Given the description of an element on the screen output the (x, y) to click on. 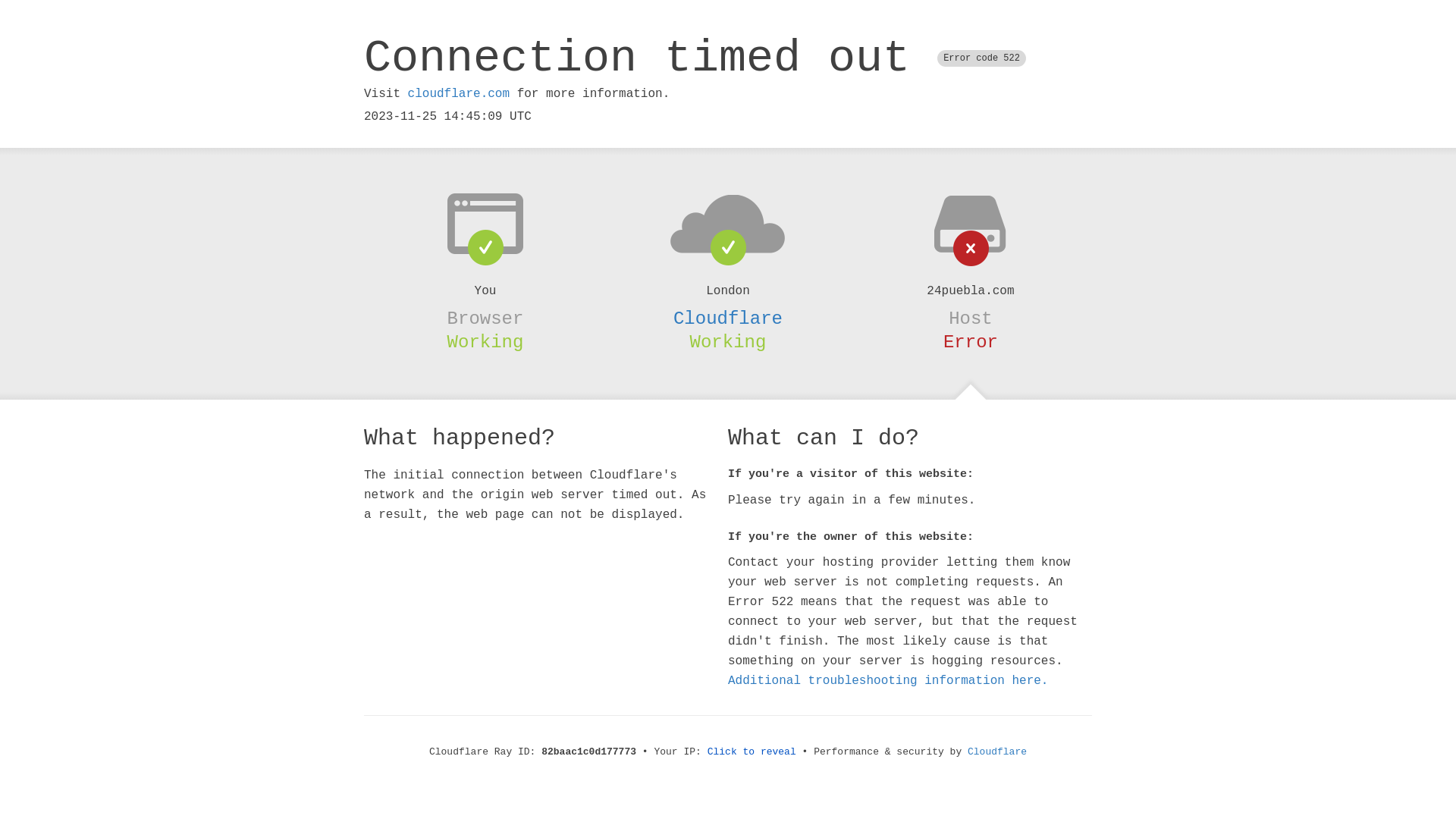
Cloudflare Element type: text (996, 751)
Additional troubleshooting information here. Element type: text (888, 680)
cloudflare.com Element type: text (458, 93)
Cloudflare Element type: text (727, 318)
Click to reveal Element type: text (751, 751)
